Given the description of an element on the screen output the (x, y) to click on. 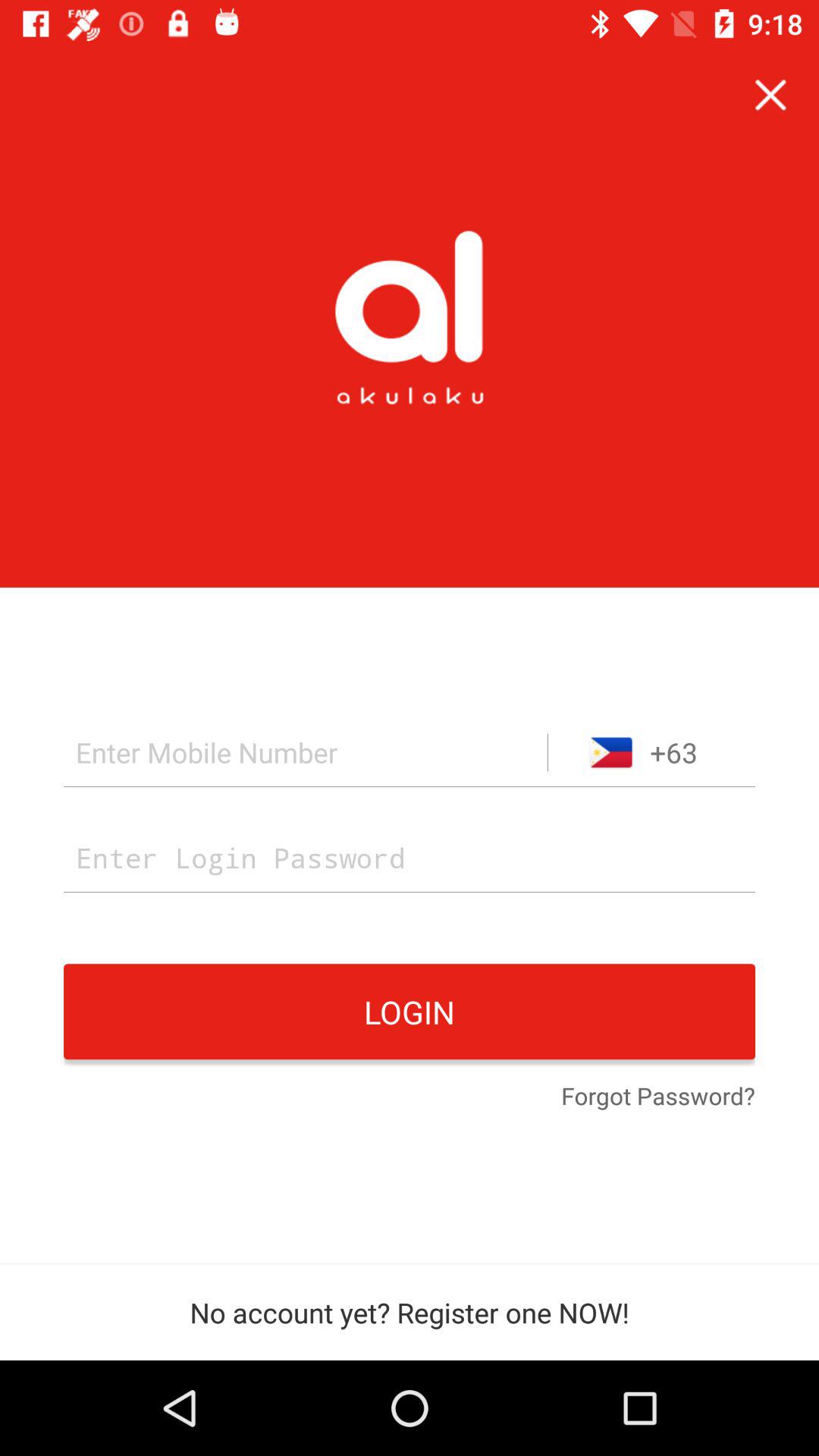
enter password (409, 857)
